Given the description of an element on the screen output the (x, y) to click on. 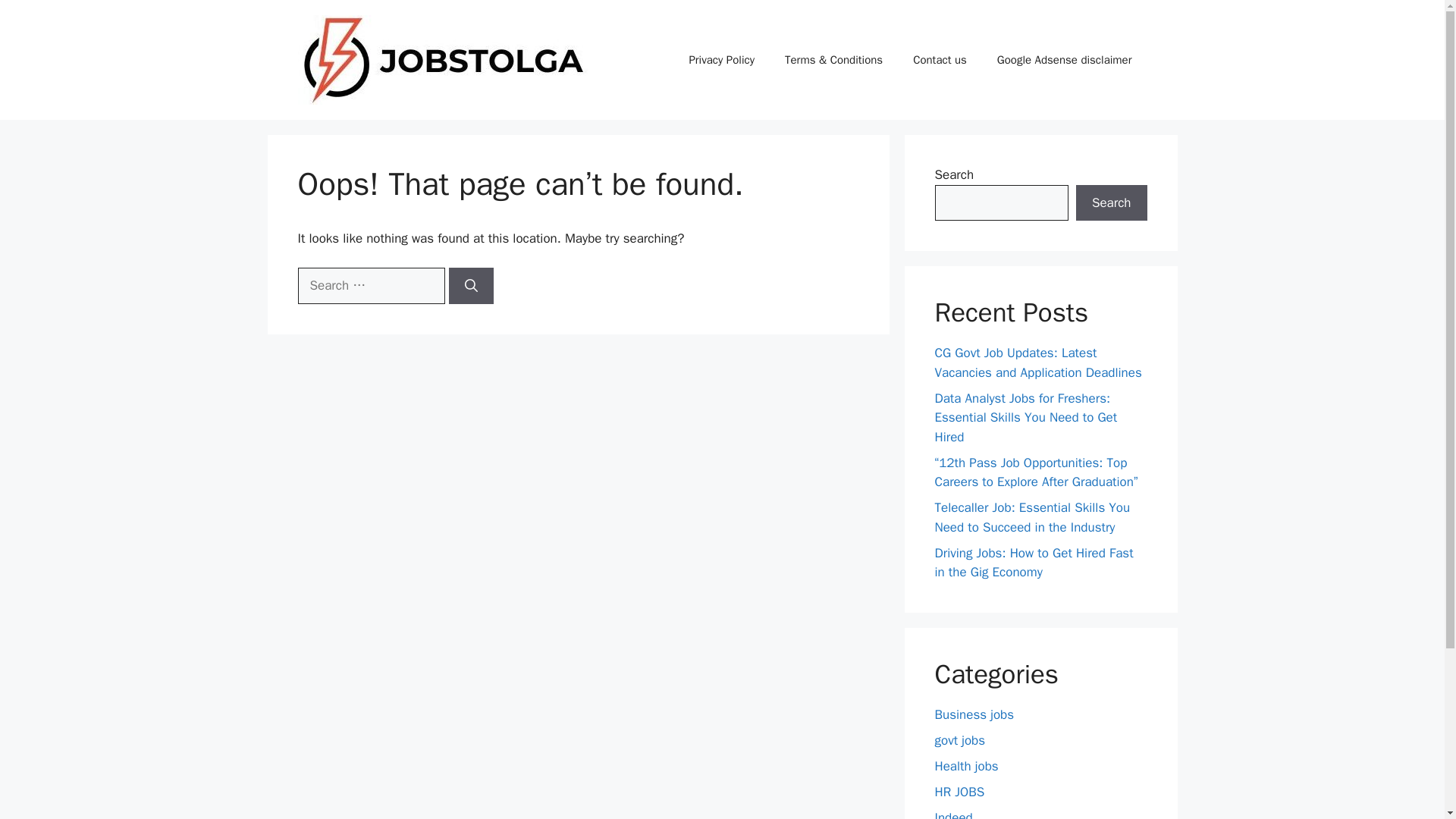
Google Adsense disclaimer (1064, 59)
Indeed (953, 814)
Driving Jobs: How to Get Hired Fast in the Gig Economy (1033, 561)
Health jobs (965, 765)
HR JOBS (959, 791)
Search (1111, 203)
Business jobs (973, 714)
Privacy Policy (721, 59)
Search for: (370, 285)
